Given the description of an element on the screen output the (x, y) to click on. 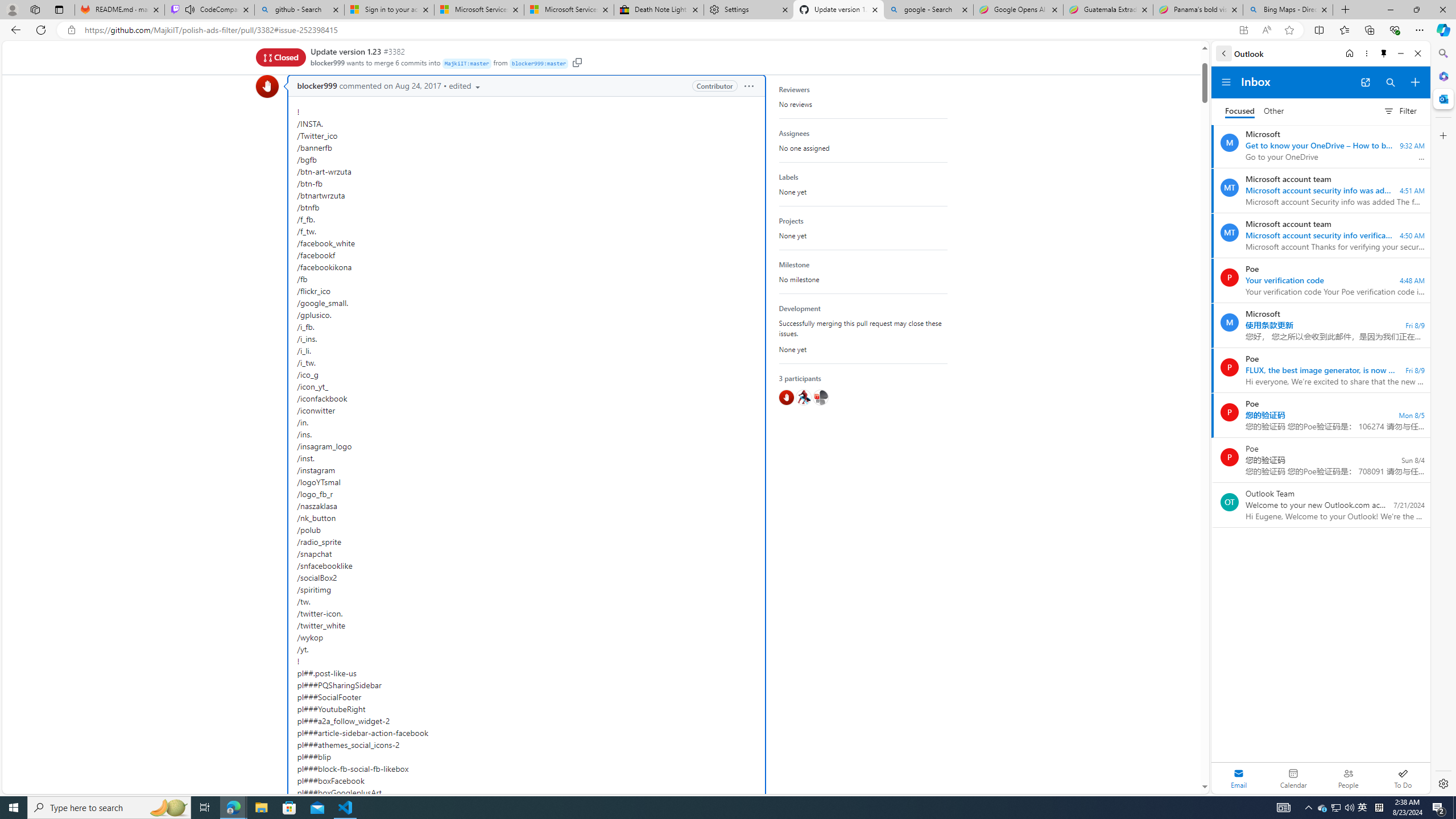
Sign in to your account (389, 9)
blocker999 (266, 86)
Google Opens AI Academy for Startups - Nearshore Americas (1018, 9)
blocker999 : master (539, 63)
